Given the description of an element on the screen output the (x, y) to click on. 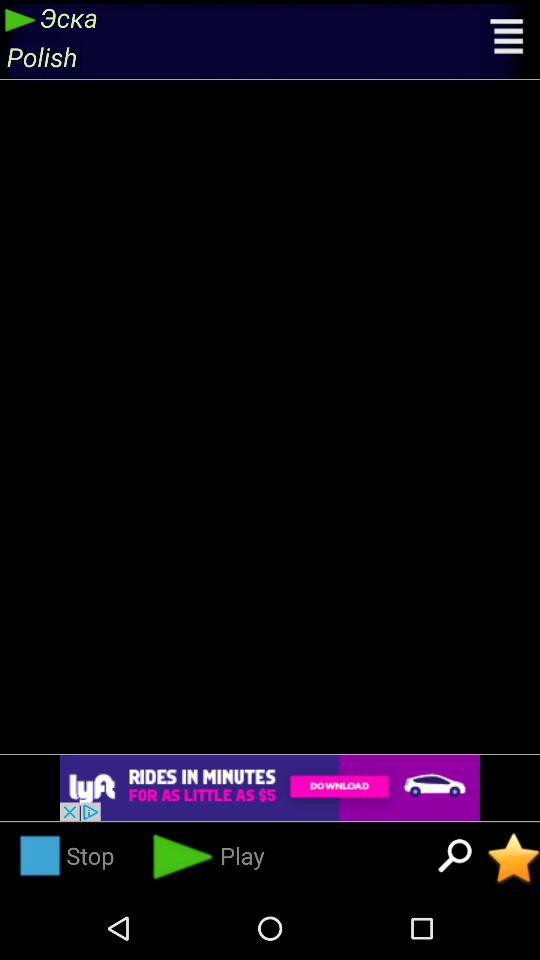
menu (508, 39)
